Given the description of an element on the screen output the (x, y) to click on. 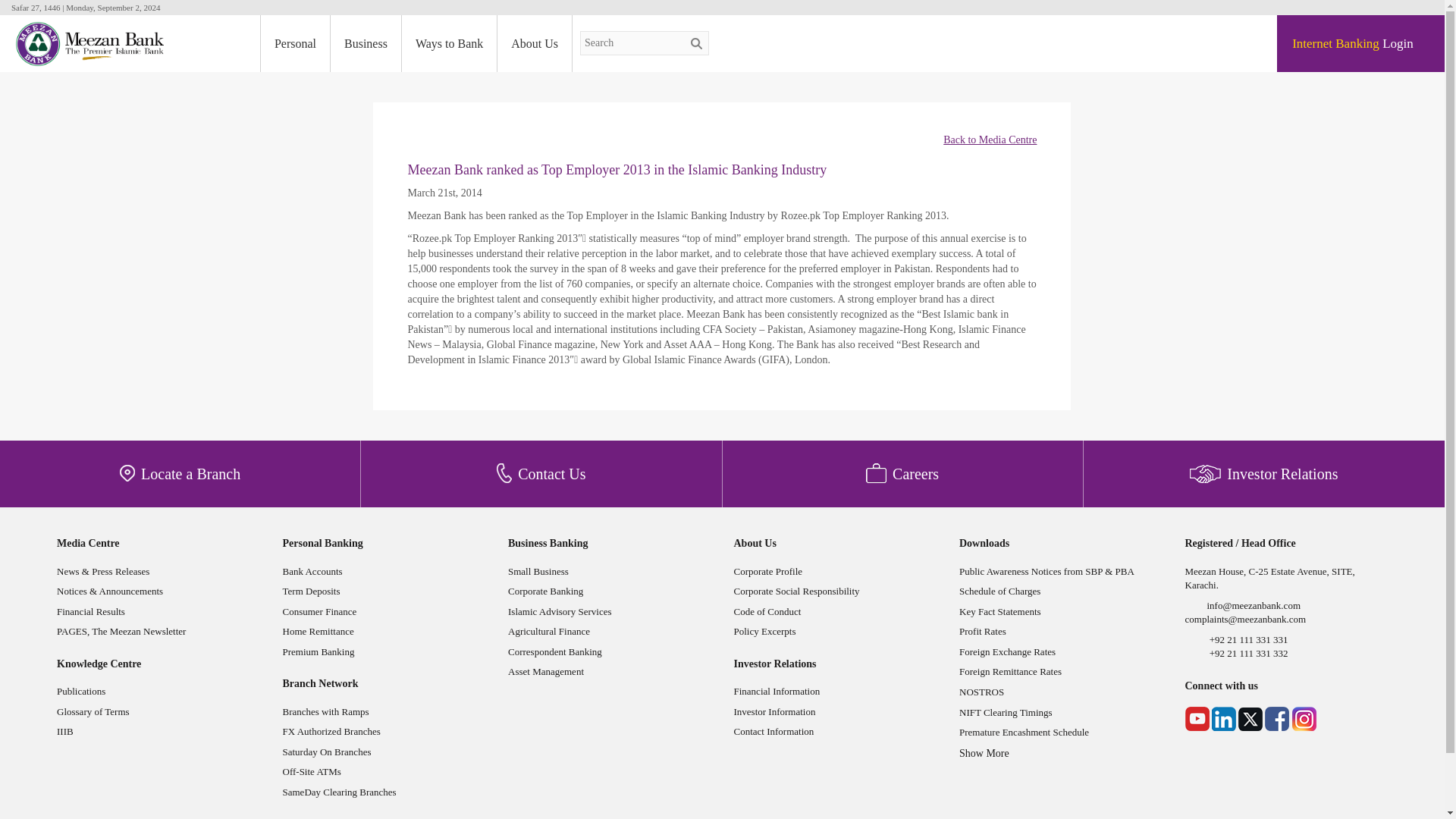
About Us (534, 43)
Business (365, 43)
Ways to Bank (448, 43)
Personal (295, 43)
